Given the description of an element on the screen output the (x, y) to click on. 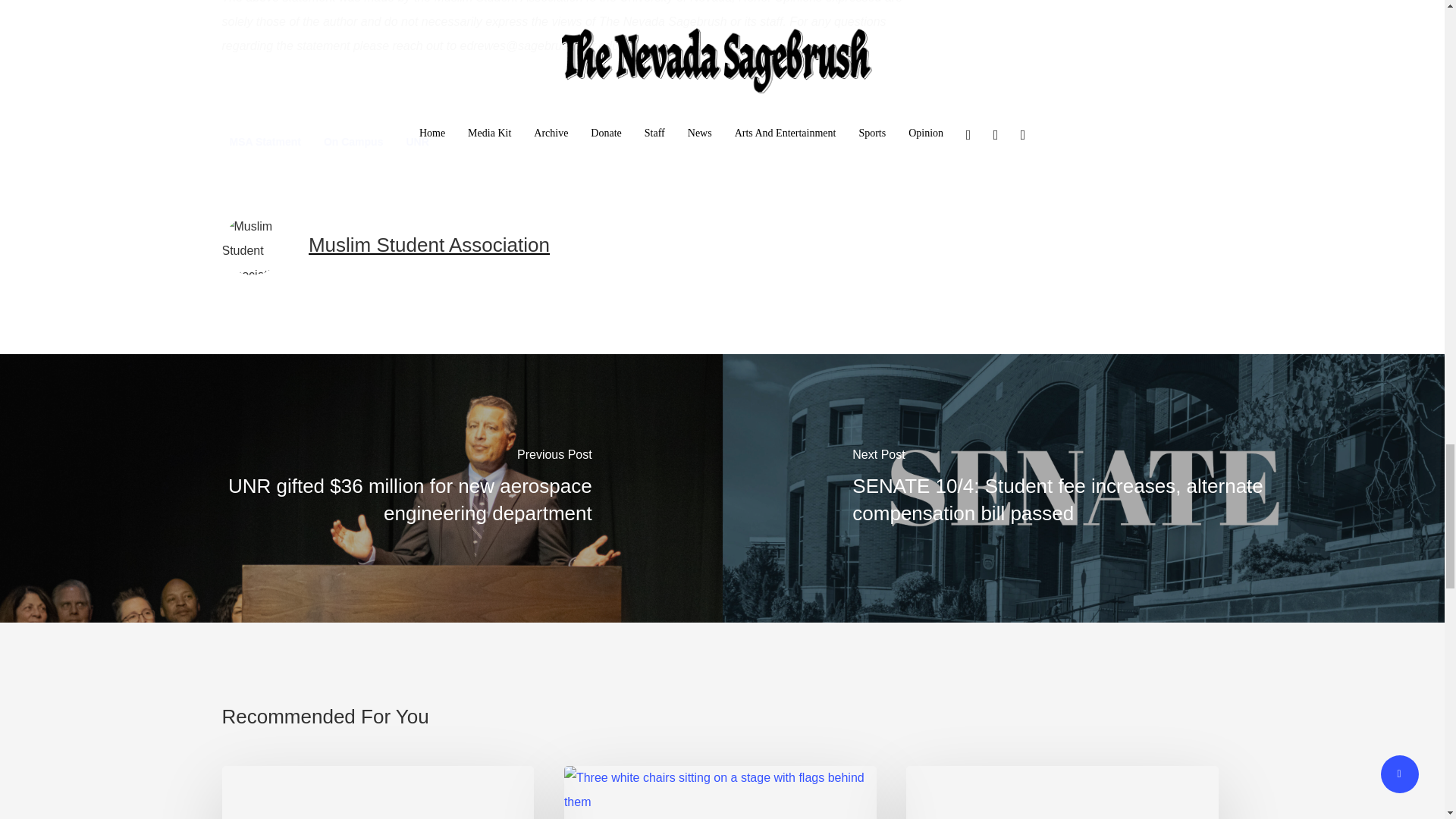
On Campus (353, 141)
MSA Statment (264, 141)
Muslim Student Association (429, 244)
UNR (416, 141)
